Given the description of an element on the screen output the (x, y) to click on. 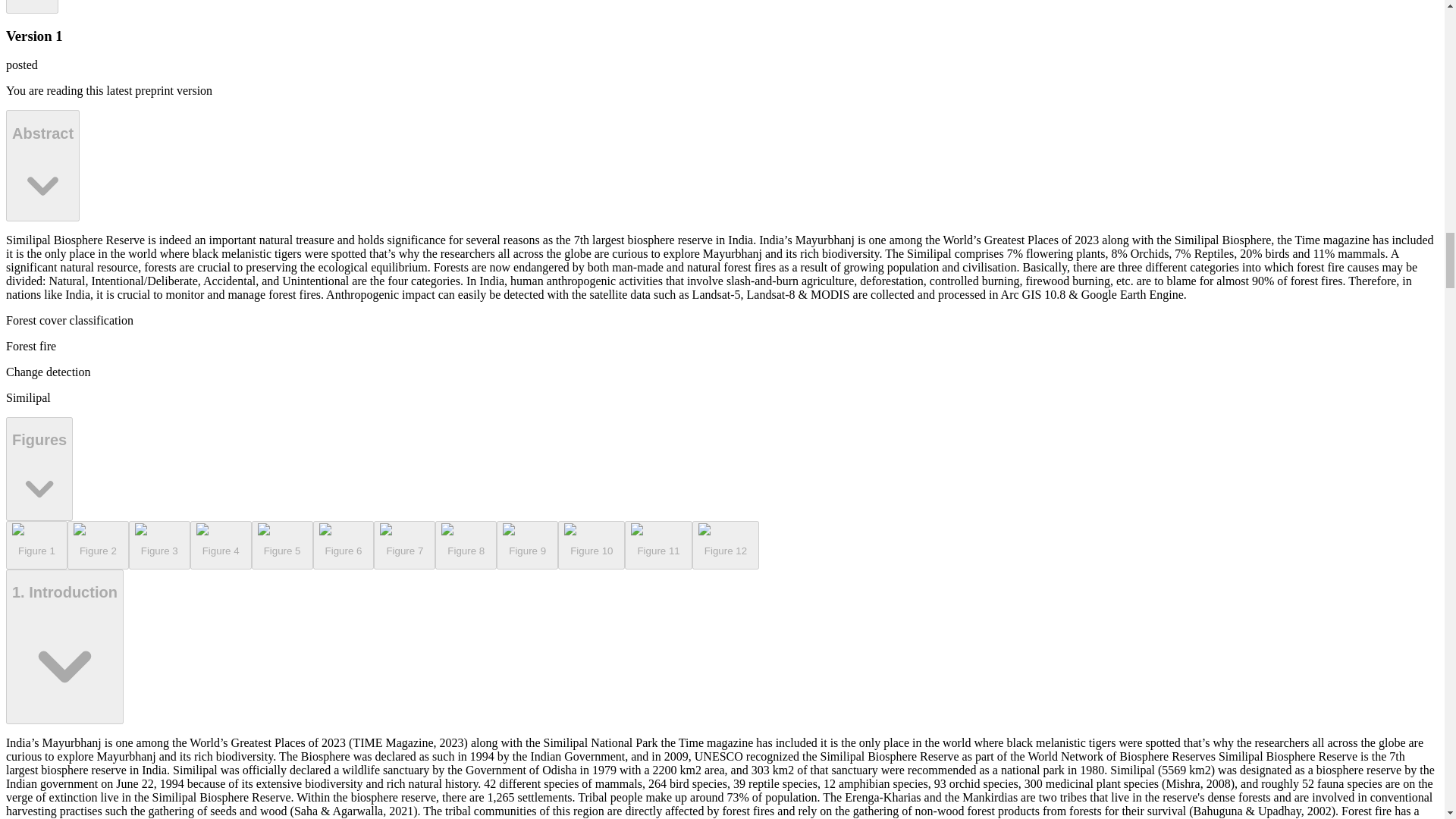
Figure 11 (657, 544)
Figure 8 (465, 544)
Figure 3 (159, 544)
Figure 6 (343, 544)
Figure 10 (590, 544)
Figure 7 (404, 544)
Figure 2 (97, 544)
Figure 5 (31, 6)
Figure 4 (282, 544)
